Given the description of an element on the screen output the (x, y) to click on. 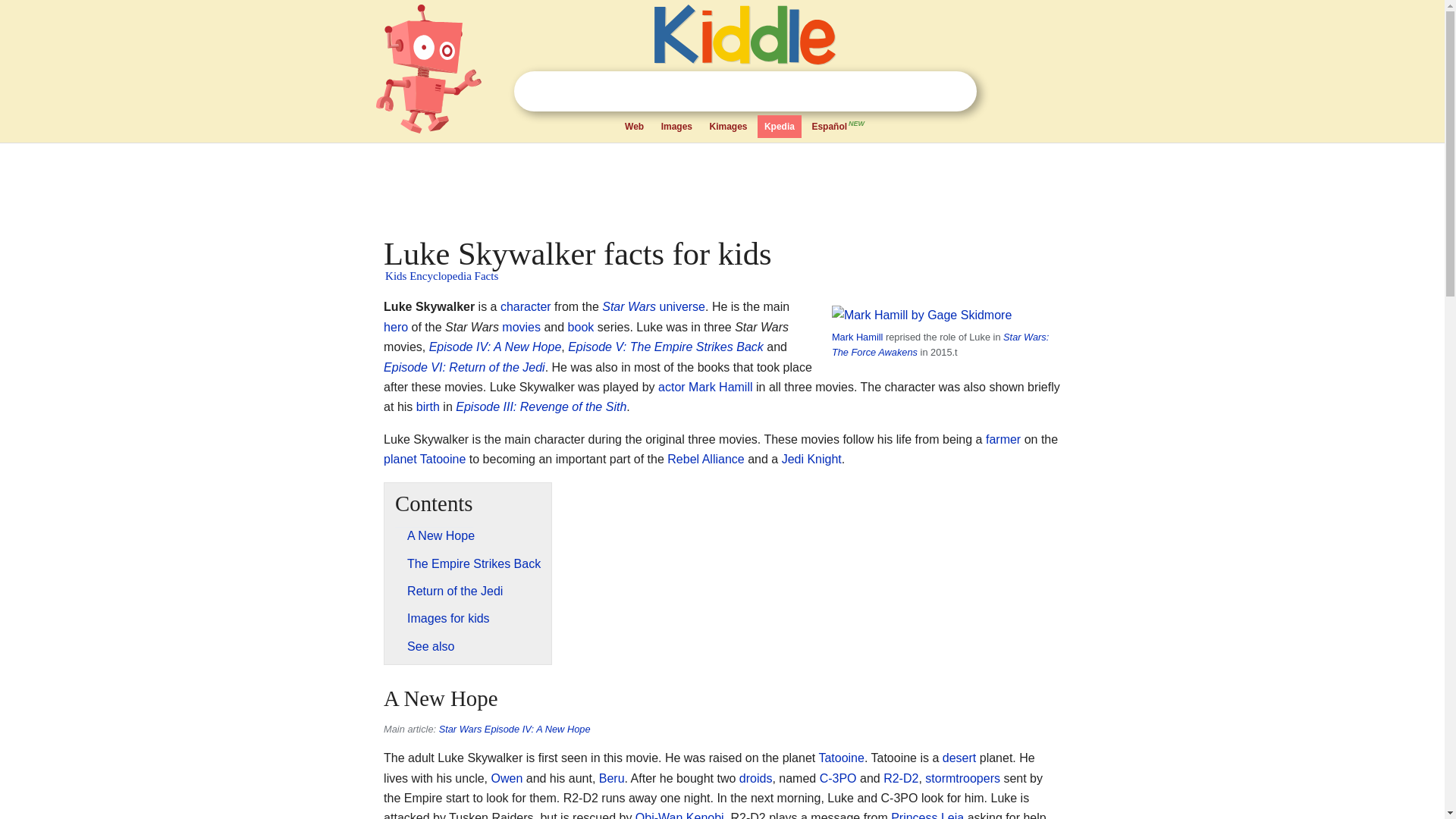
Fictional universe (681, 306)
Tatooine (841, 757)
Mark Hamill (720, 386)
Kpedia (779, 126)
Tatooine (442, 459)
Return of the Jedi (454, 590)
Episode V: The Empire Strikes Back (664, 346)
Birth (427, 406)
See also (430, 645)
Actor (671, 386)
